Given the description of an element on the screen output the (x, y) to click on. 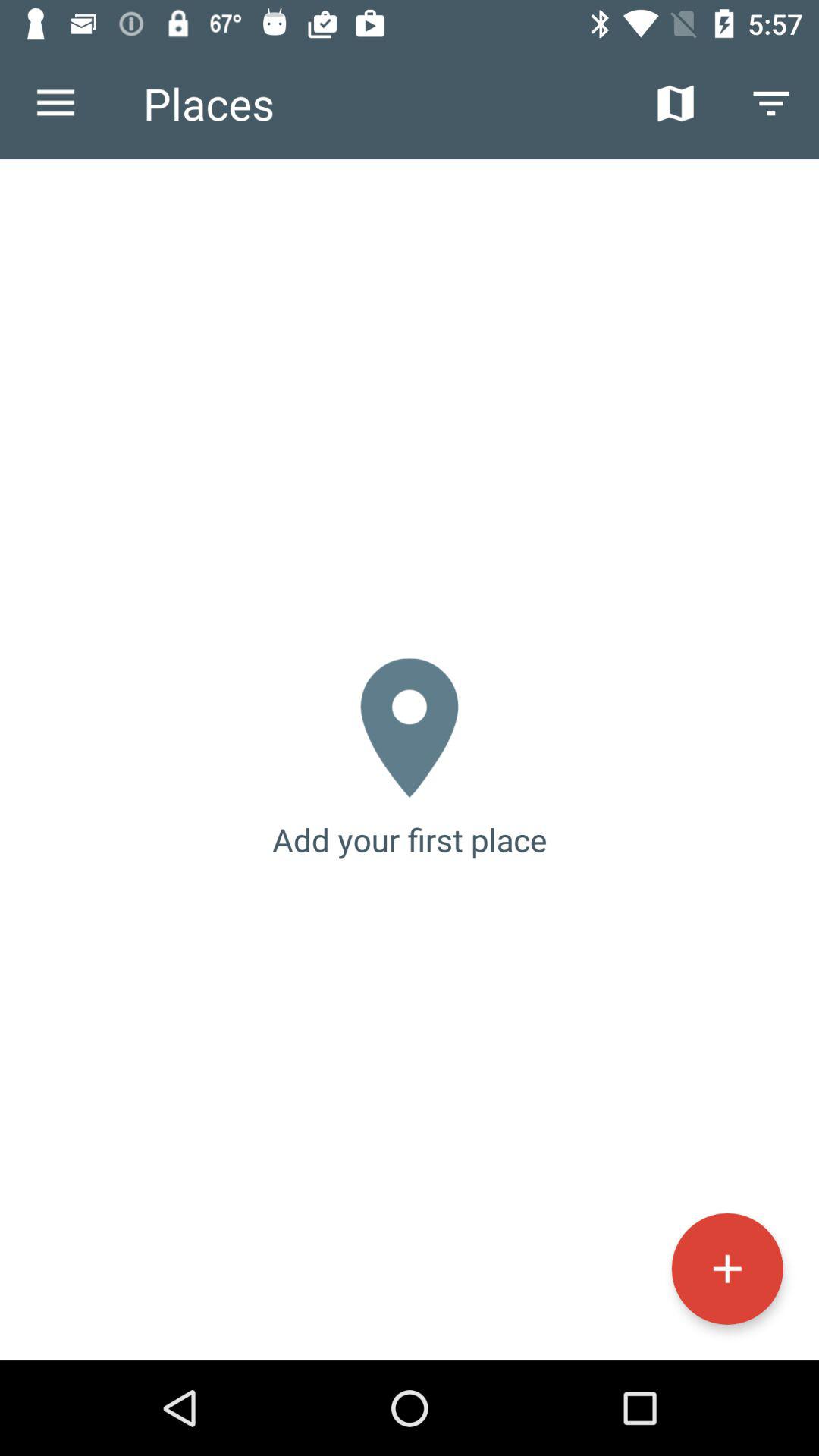
turn on the item next to the places (55, 103)
